Given the description of an element on the screen output the (x, y) to click on. 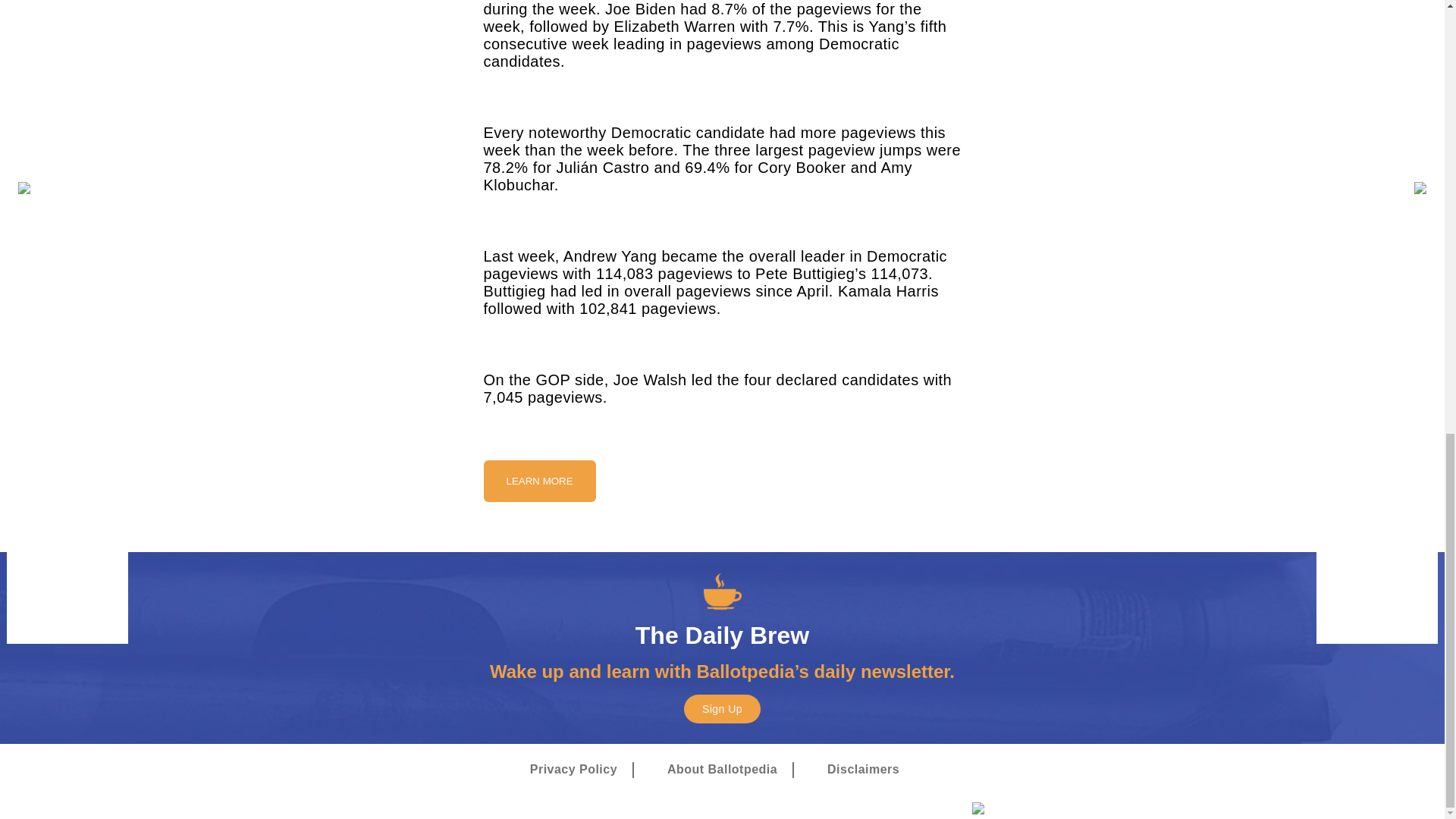
Sign Up (722, 708)
Privacy Policy (573, 770)
LEARN MORE (539, 481)
About Ballotpedia (721, 770)
Disclaimers (863, 770)
LEARN MORE (539, 480)
